Given the description of an element on the screen output the (x, y) to click on. 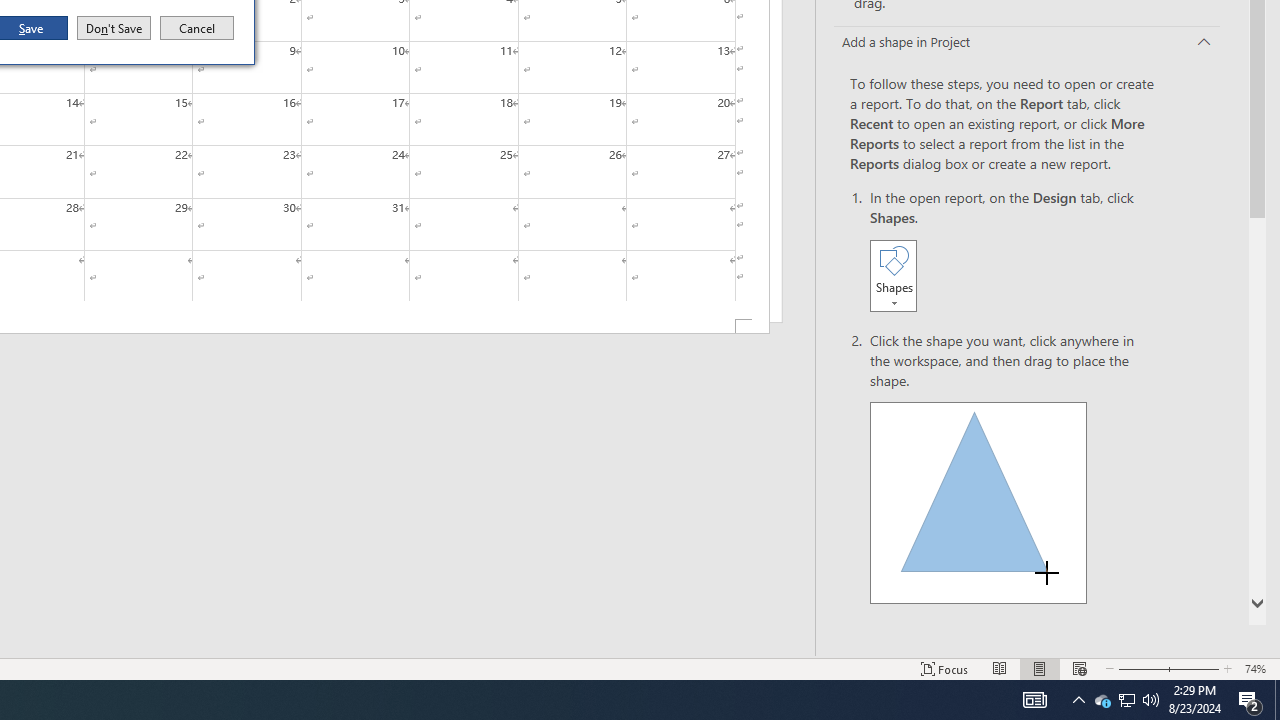
Action Center, 2 new notifications (1250, 699)
Cancel (197, 27)
In the open report, on the Design tab, click Shapes. (1012, 251)
Insert Shapes button (893, 275)
AutomationID: 4105 (1034, 699)
Notification Chevron (1078, 699)
